Given the description of an element on the screen output the (x, y) to click on. 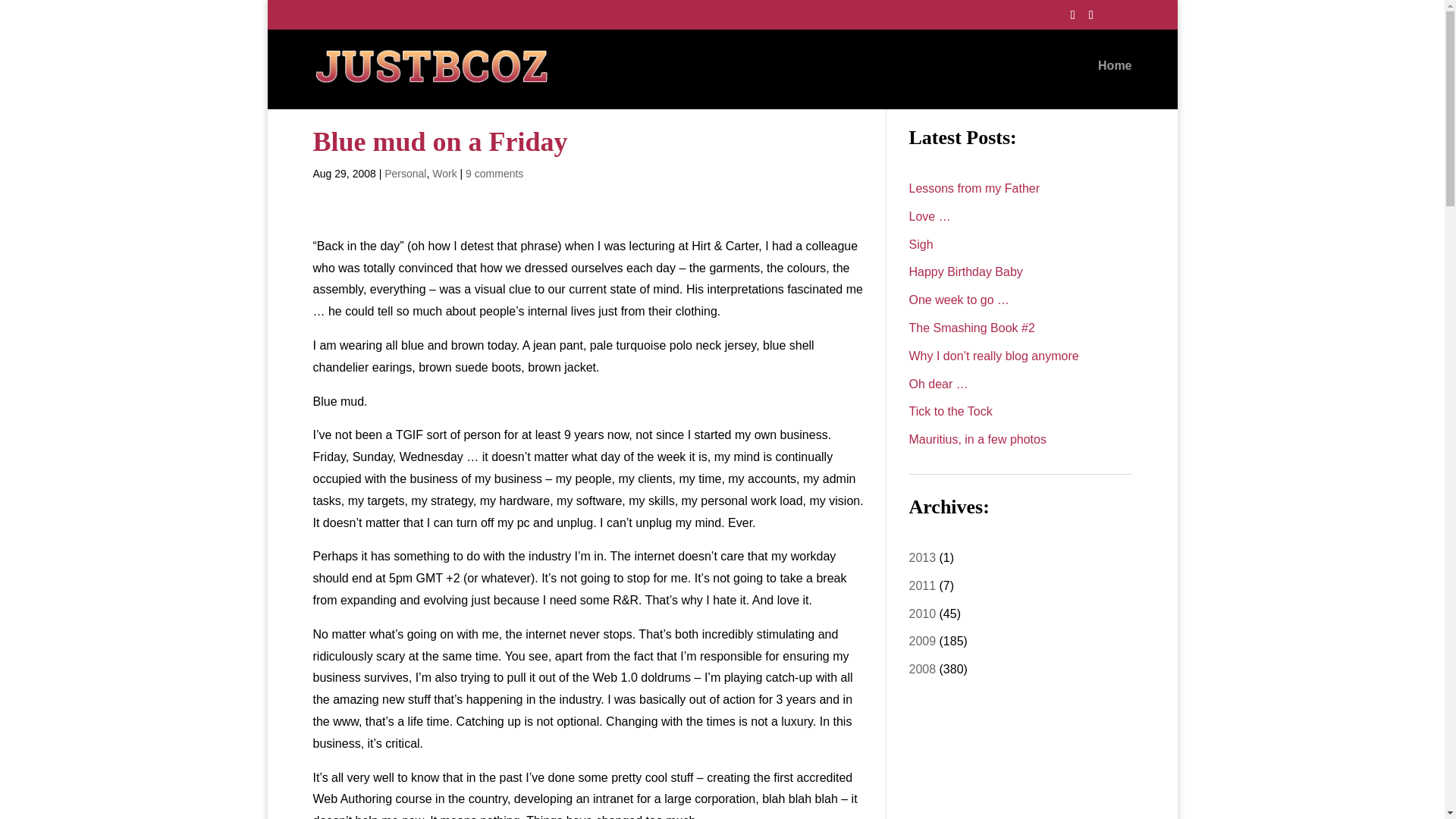
Lessons from my Father (973, 187)
Personal (405, 173)
9 comments (493, 173)
2010 (922, 613)
Tick to the Tock (949, 410)
2008 (922, 668)
Happy Birthday Baby (965, 271)
Mauritius, in a few photos (976, 439)
Sigh (920, 244)
2009 (922, 640)
2013 (922, 557)
Work (444, 173)
2011 (922, 585)
